Given the description of an element on the screen output the (x, y) to click on. 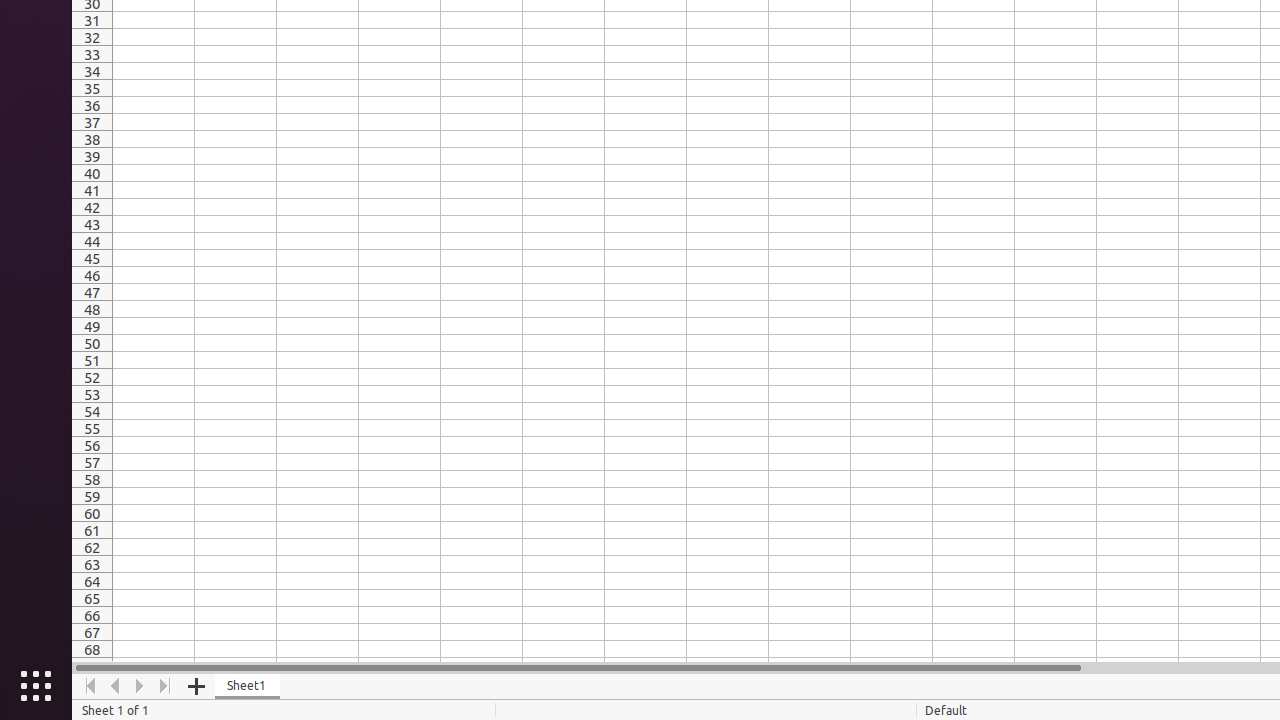
Sheet1 Element type: page-tab (247, 686)
